Given the description of an element on the screen output the (x, y) to click on. 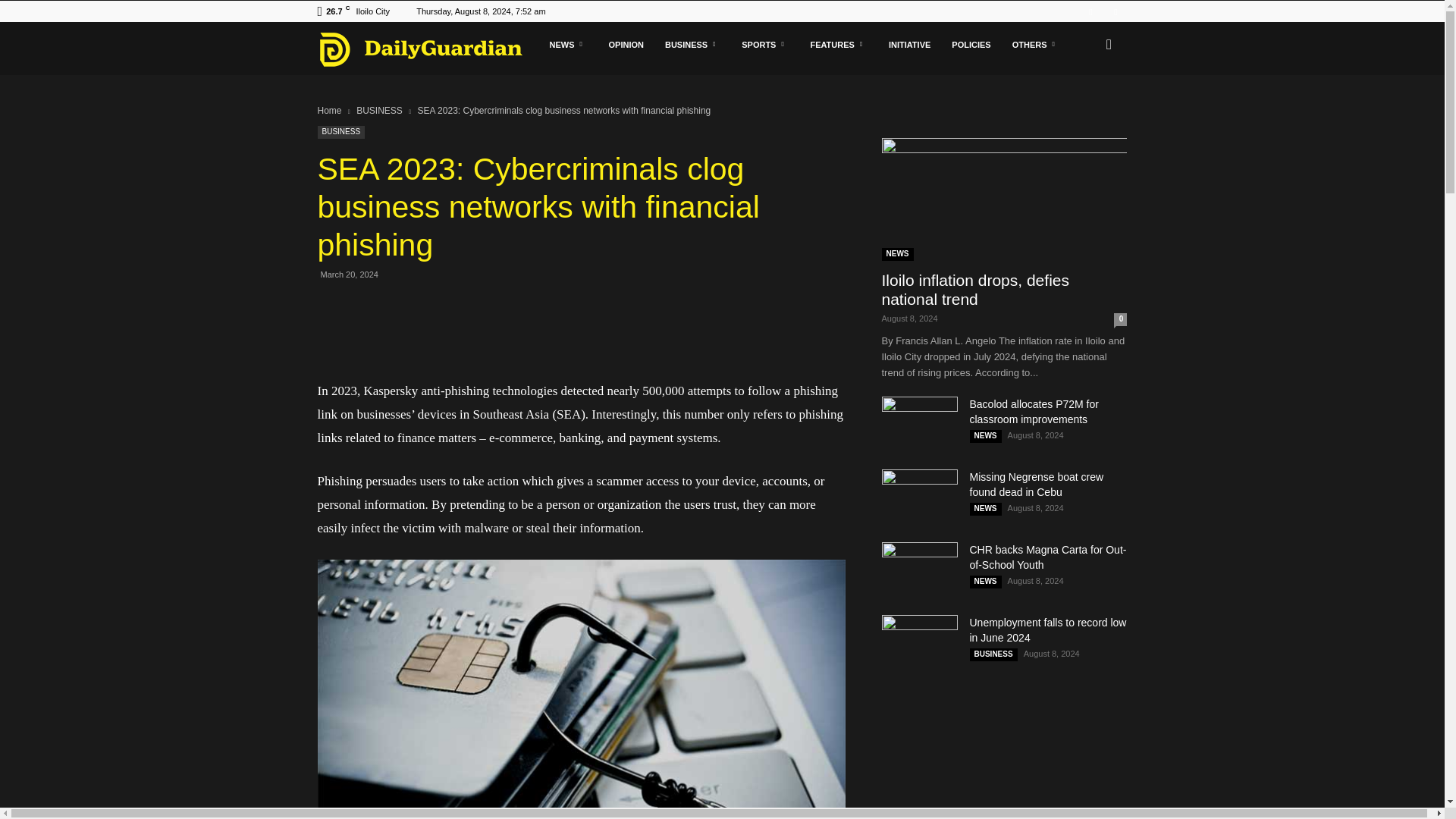
Twitter (1114, 11)
NEWS (567, 44)
Daily Guardian (427, 48)
Facebook (1090, 11)
We write, you decide. (419, 48)
